Given the description of an element on the screen output the (x, y) to click on. 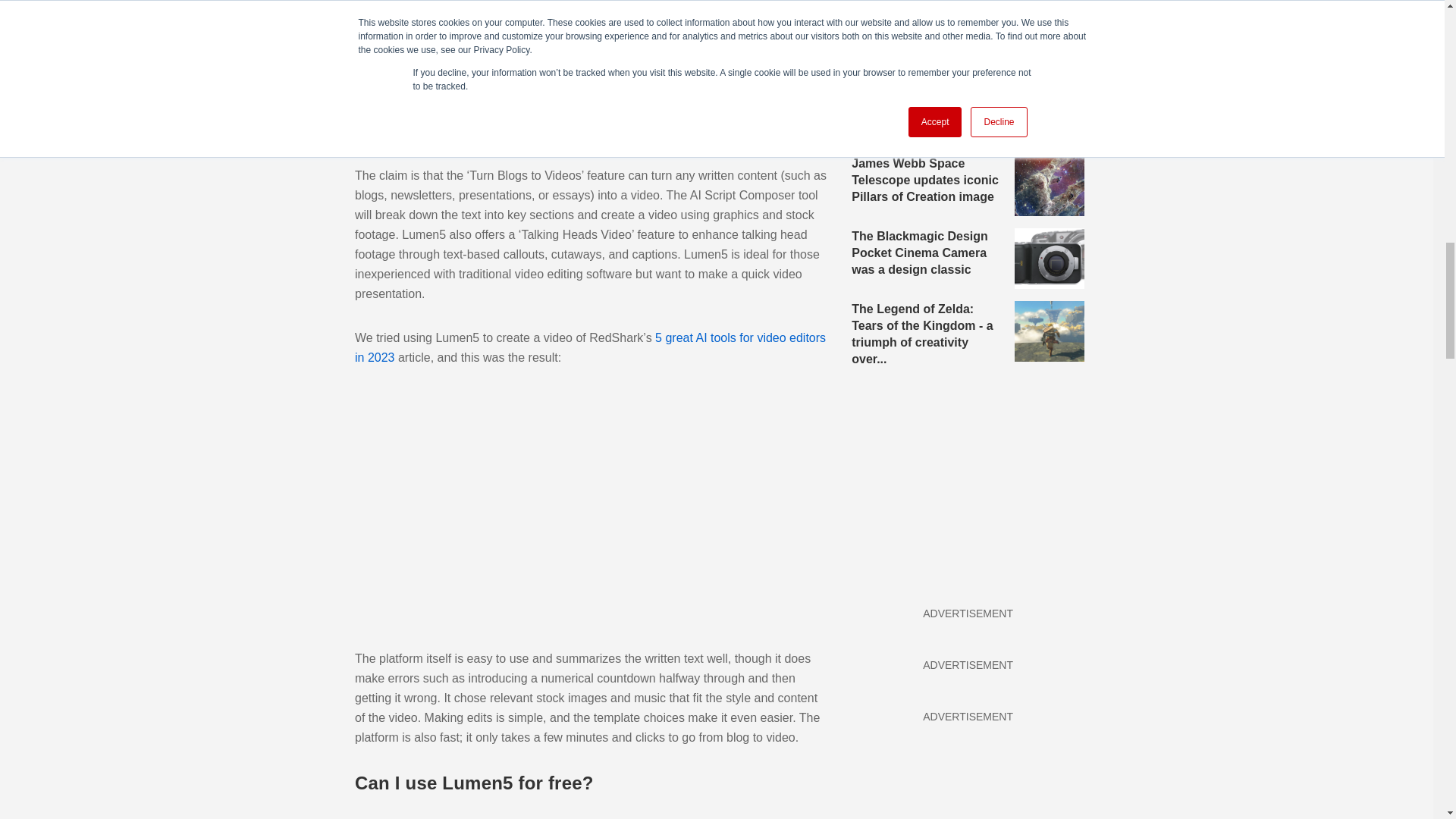
GoPro issues huge price drops across its range (967, 39)
5 great AI tools for video editors in 2023 (590, 347)
Lumen5 Review Video (590, 508)
